Given the description of an element on the screen output the (x, y) to click on. 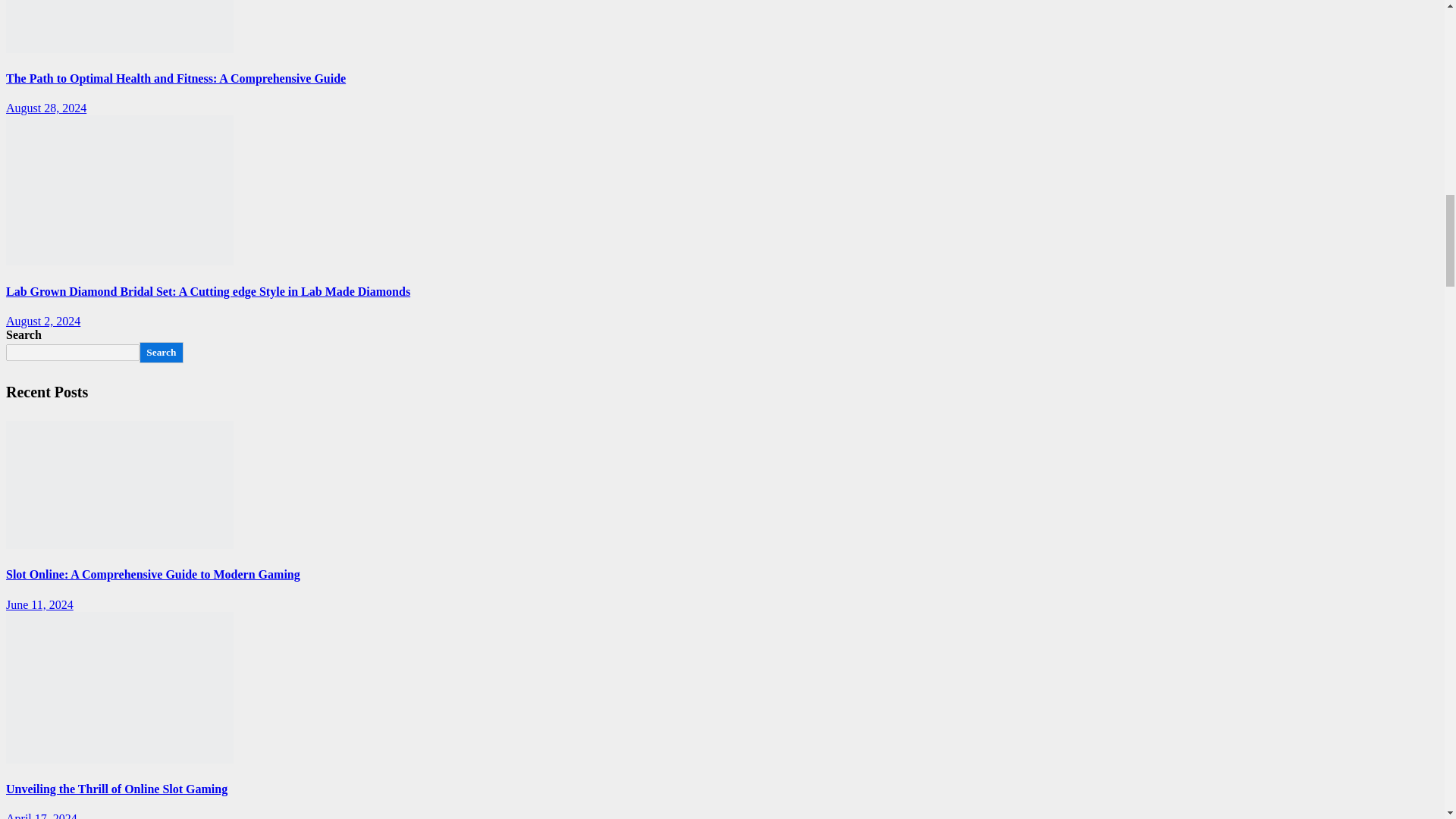
Unveiling the Thrill of Online Slot Gaming (118, 687)
Slot Online: A Comprehensive Guide to Modern Gaming (118, 484)
August 28, 2024 (45, 107)
